Given the description of an element on the screen output the (x, y) to click on. 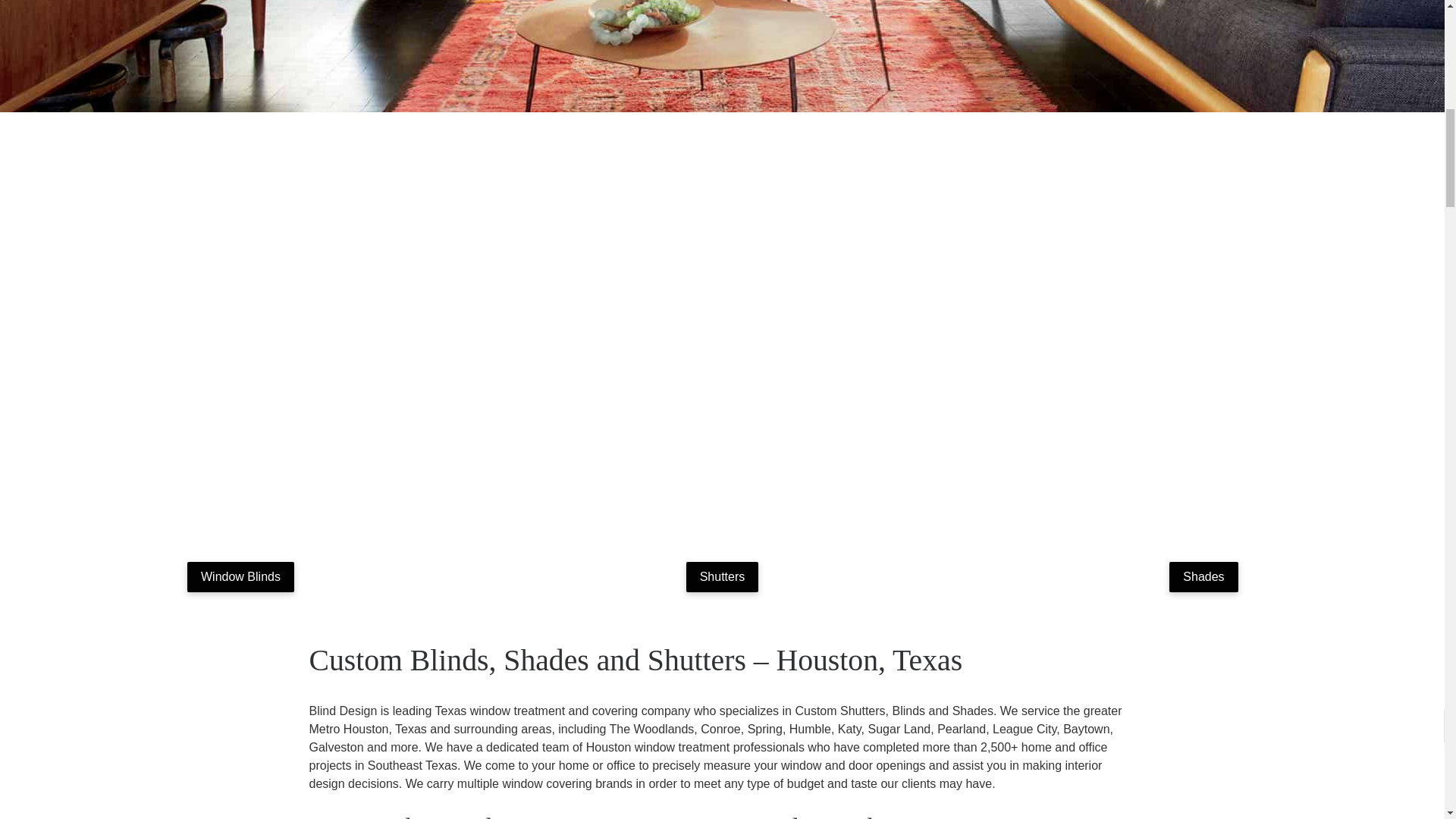
Window Blinds (240, 576)
Shutters (721, 576)
Shutters (721, 576)
Window Blinds (240, 576)
Shades (1203, 576)
